Given the description of an element on the screen output the (x, y) to click on. 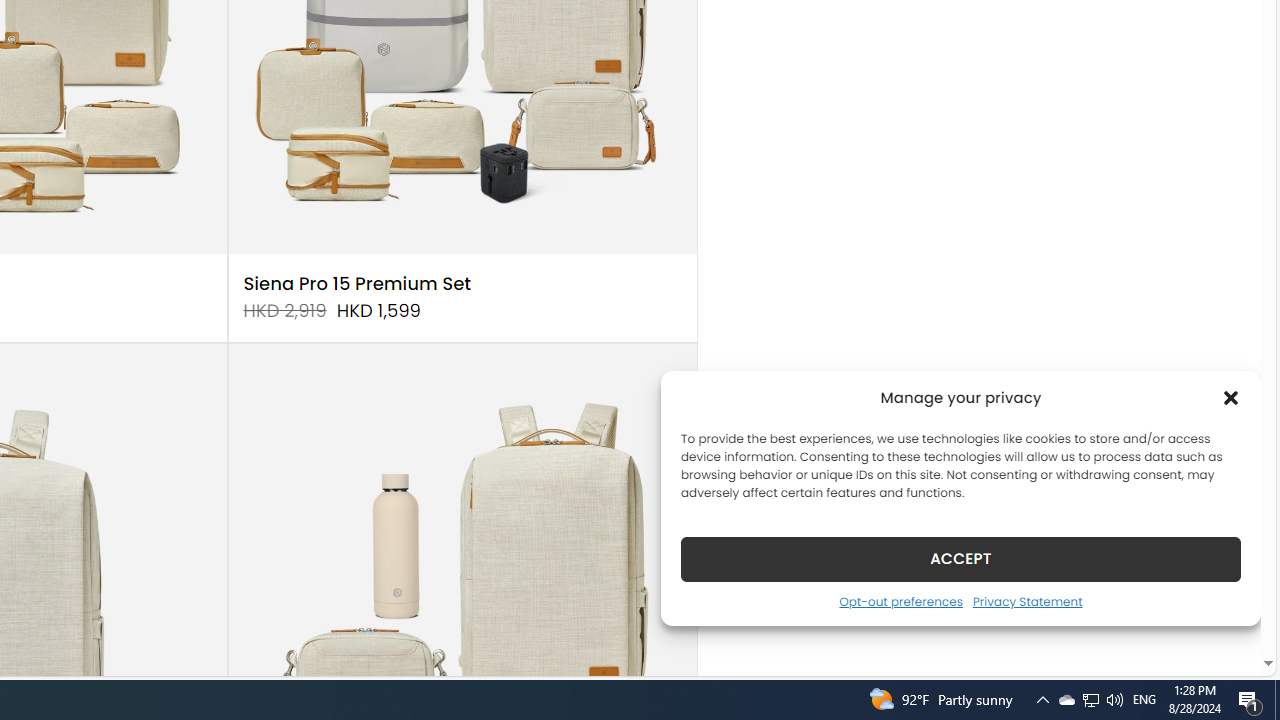
Siena Pro 15 Premium Set (357, 283)
ACCEPT (960, 558)
Opt-out preferences (900, 601)
Privacy Statement (1026, 601)
Class: cmplz-close (1231, 397)
